Given the description of an element on the screen output the (x, y) to click on. 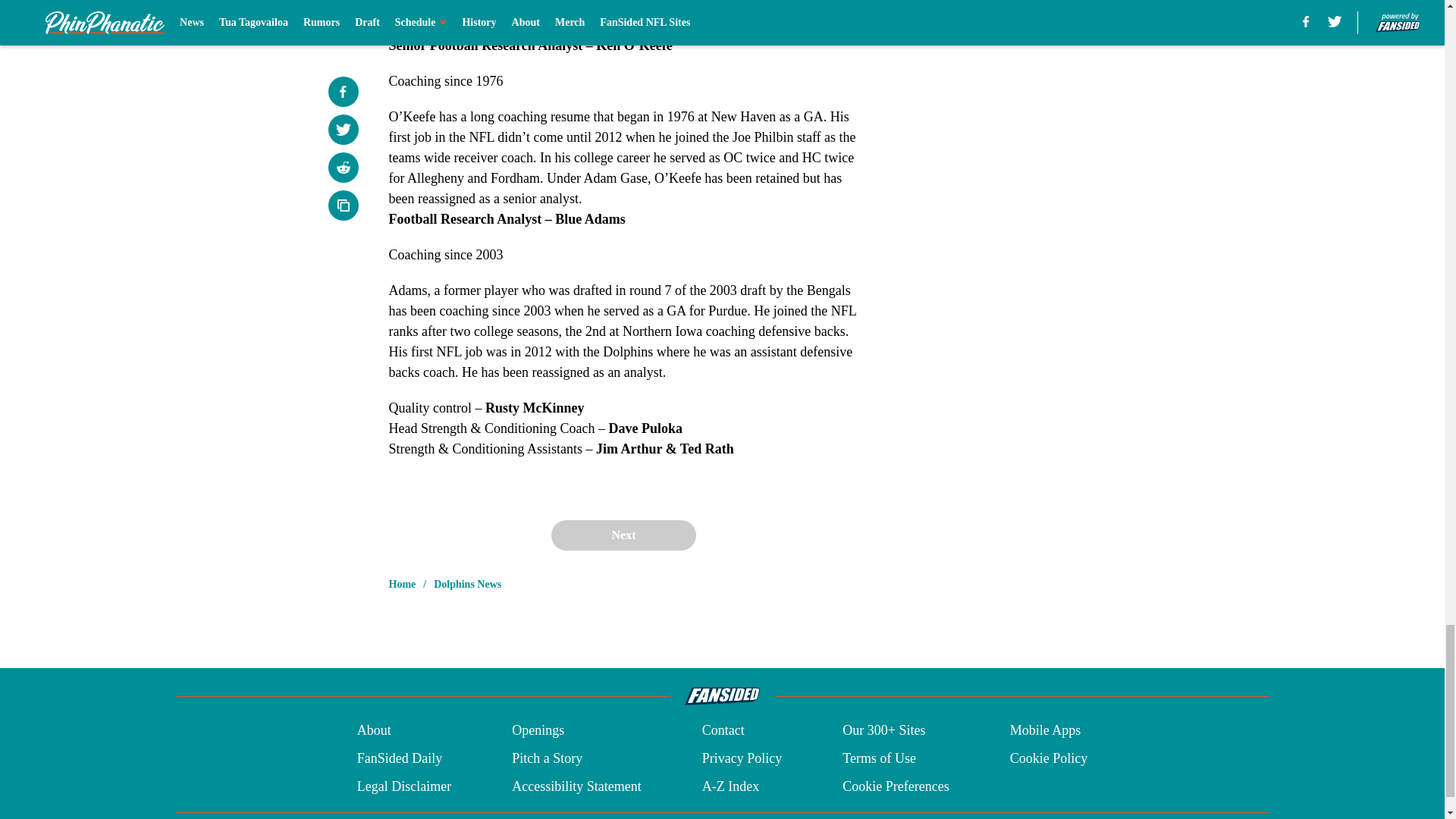
Privacy Policy (742, 758)
A-Z Index (729, 786)
Contact (722, 730)
Accessibility Statement (576, 786)
Next (622, 535)
Cookie Policy (1048, 758)
Openings (538, 730)
About (373, 730)
Home (401, 584)
FanSided Daily (399, 758)
